Given the description of an element on the screen output the (x, y) to click on. 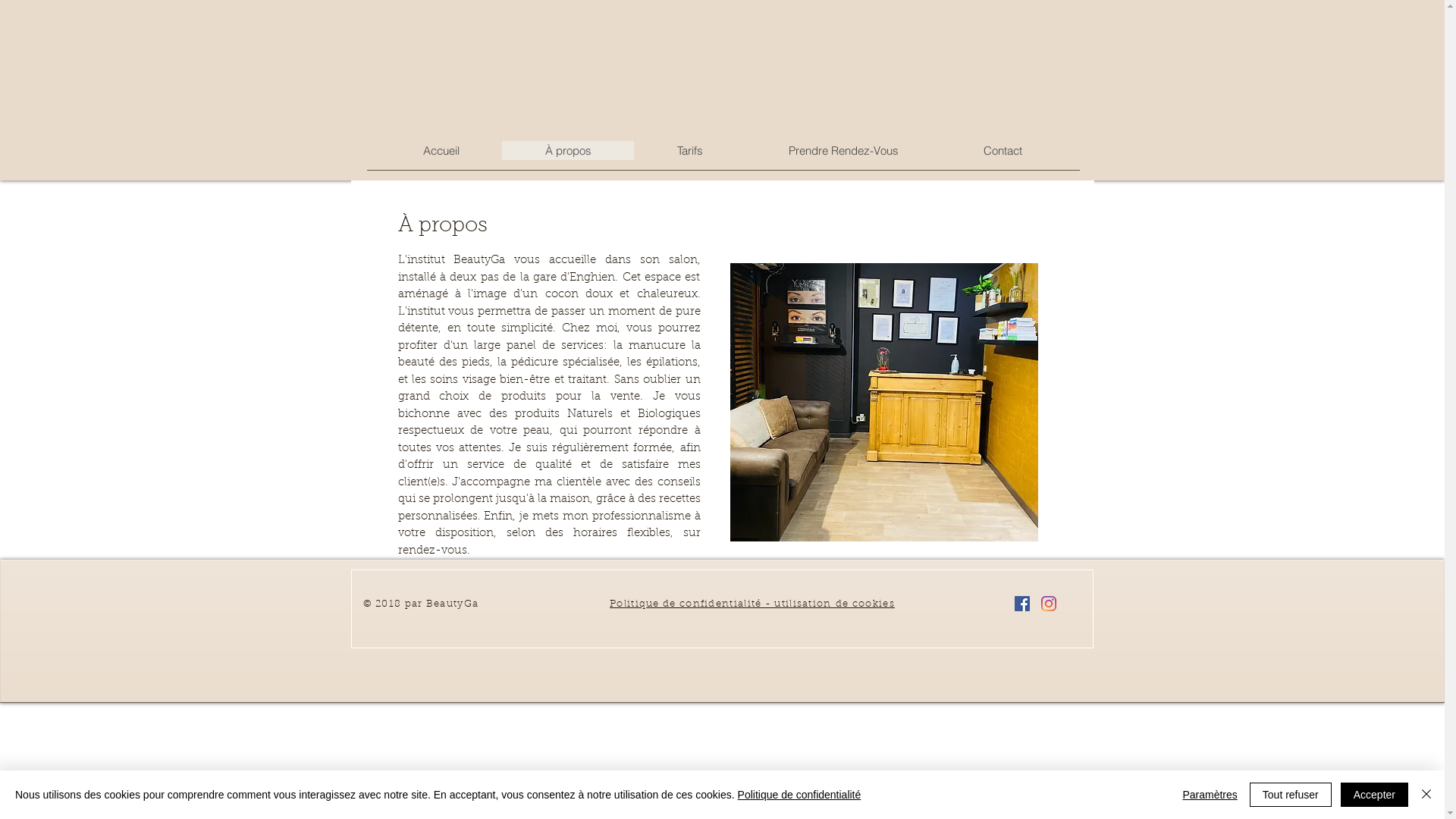
Tarifs Element type: text (689, 150)
Contact Element type: text (1001, 150)
Prendre Rendez-Vous Element type: text (842, 150)
Tout refuser Element type: text (1290, 794)
Accueil Element type: text (441, 150)
Cookie Alert Element type: hover (747, 614)
Accepter Element type: text (1374, 794)
